Given the description of an element on the screen output the (x, y) to click on. 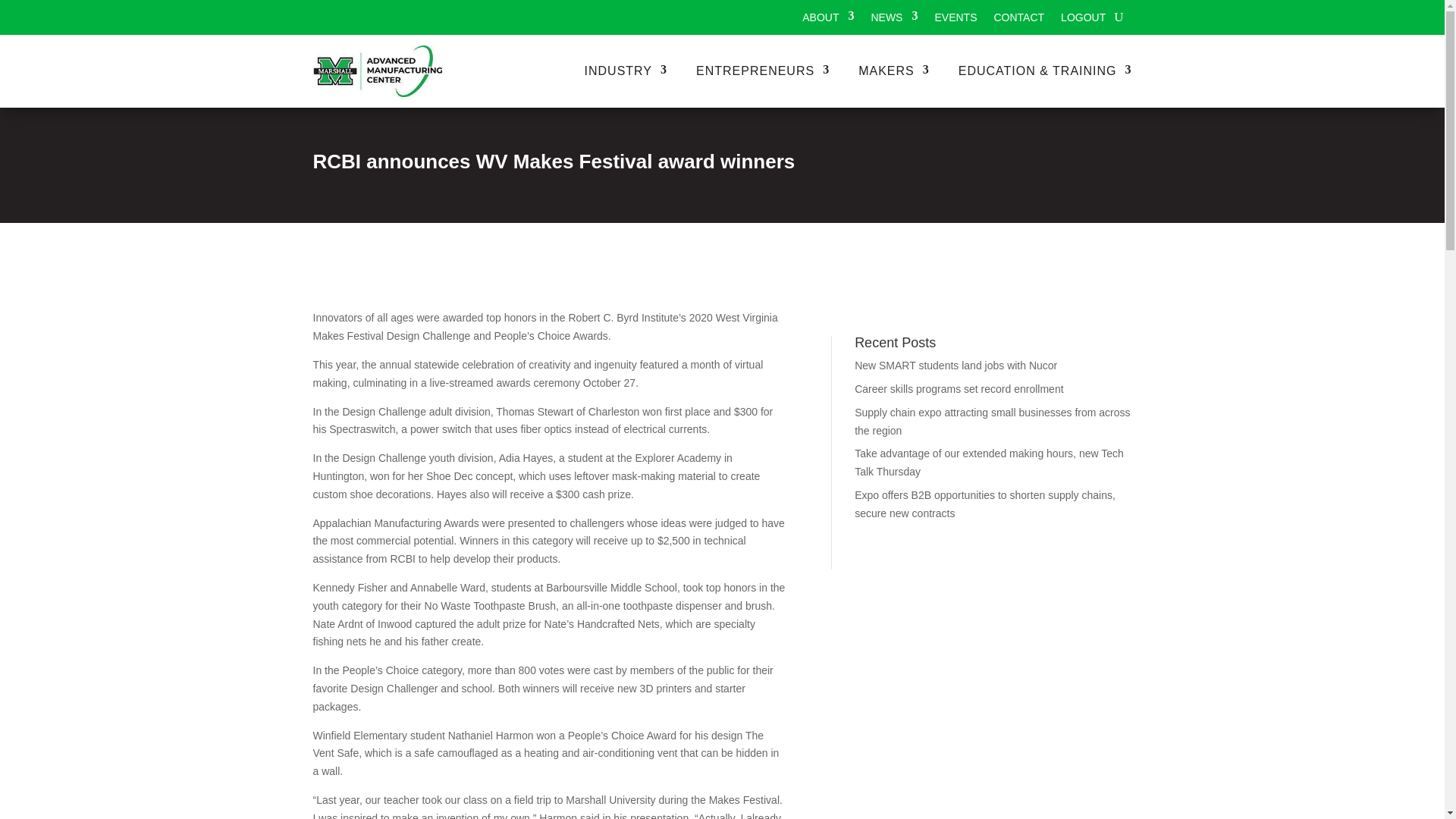
NEWS (893, 20)
INDUSTRY (626, 71)
EVENTS (955, 20)
CONTACT (1017, 20)
LOGOUT (1083, 20)
ABOUT (827, 20)
